Given the description of an element on the screen output the (x, y) to click on. 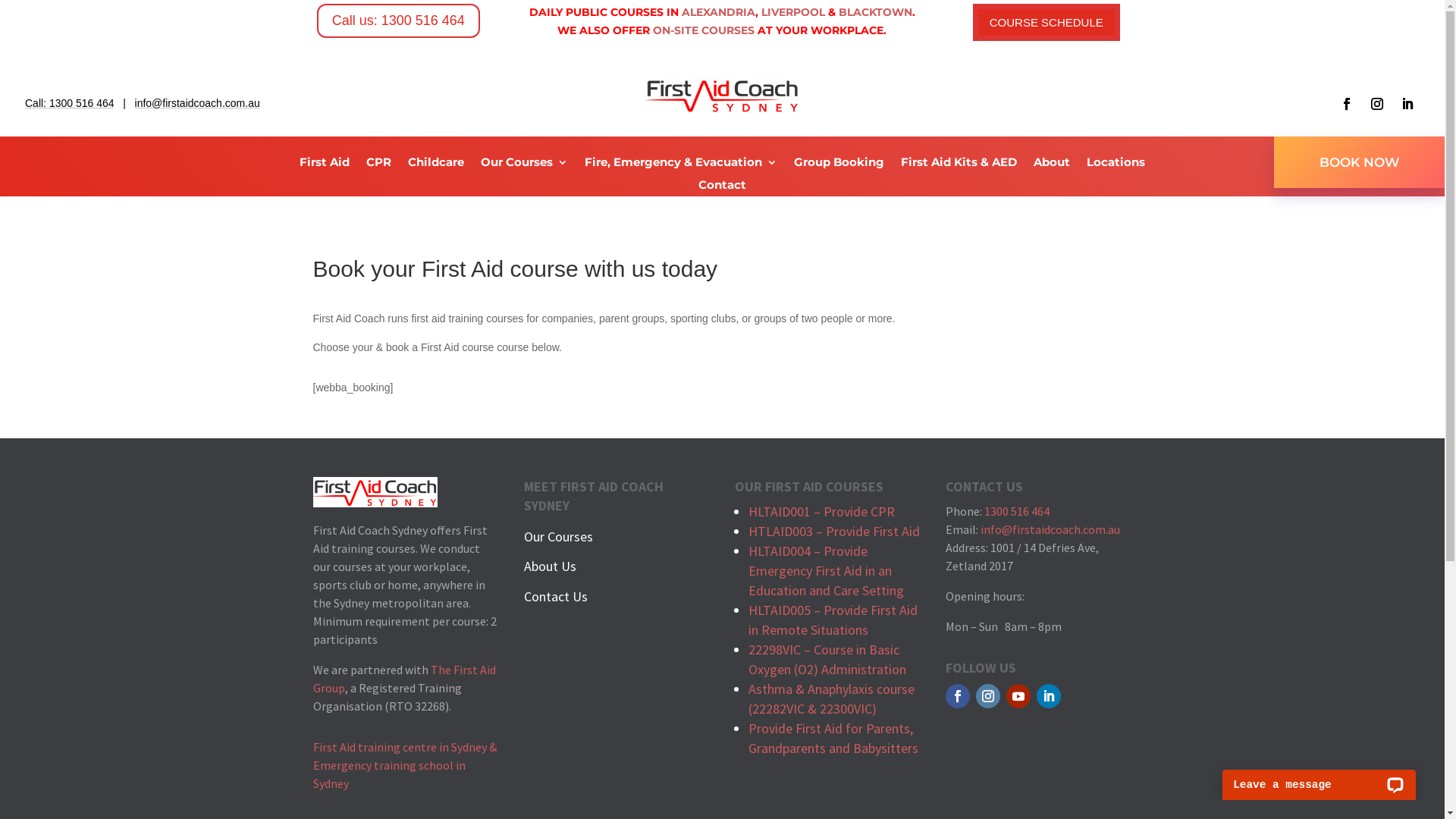
CPR Element type: text (378, 164)
Follow on Facebook Element type: hover (957, 696)
Follow on Instagram Element type: hover (1377, 103)
First Aid Kits & AED Element type: text (958, 164)
info@firstaidcoach.com.au Element type: text (1050, 528)
Our Courses Element type: text (523, 164)
Fire, Emergency & Evacuation Element type: text (680, 164)
About Us Element type: text (550, 565)
Provide First Aid for Parents, Grandparents and Babysitters Element type: text (833, 737)
Follow on LinkedIn Element type: hover (1048, 696)
info@firstaidcoach.com.au Element type: text (197, 103)
BOOK NOW Element type: text (1359, 162)
Follow on Facebook Element type: hover (1346, 103)
Follow on Instagram Element type: hover (987, 696)
Call us: 1300 516 464 Element type: text (398, 20)
1300 516 464 Element type: text (1016, 510)
ALEXANDRIA Element type: text (718, 11)
Locations Element type: text (1115, 164)
ON-SITE COURSES Element type: text (703, 30)
Call: 1300 516 464 Element type: text (69, 103)
COURSE SCHEDULE Element type: text (1046, 21)
Our Courses Element type: text (558, 536)
Follow on Youtube Element type: hover (1018, 696)
About Element type: text (1051, 164)
Contact Us Element type: text (555, 596)
LiveChat chat widget Element type: hover (1318, 776)
The First Aid Group Element type: text (403, 678)
Childcare Element type: text (435, 164)
Follow on LinkedIn Element type: hover (1407, 103)
First Aid Element type: text (324, 164)
Contact Element type: text (722, 186)
Asthma & Anaphylaxis course (22282VIC & 22300VIC) Element type: text (831, 698)
Group Booking Element type: text (838, 164)
BLACKTOWN Element type: text (875, 11)
LIVERPOOL Element type: text (793, 11)
